Given the description of an element on the screen output the (x, y) to click on. 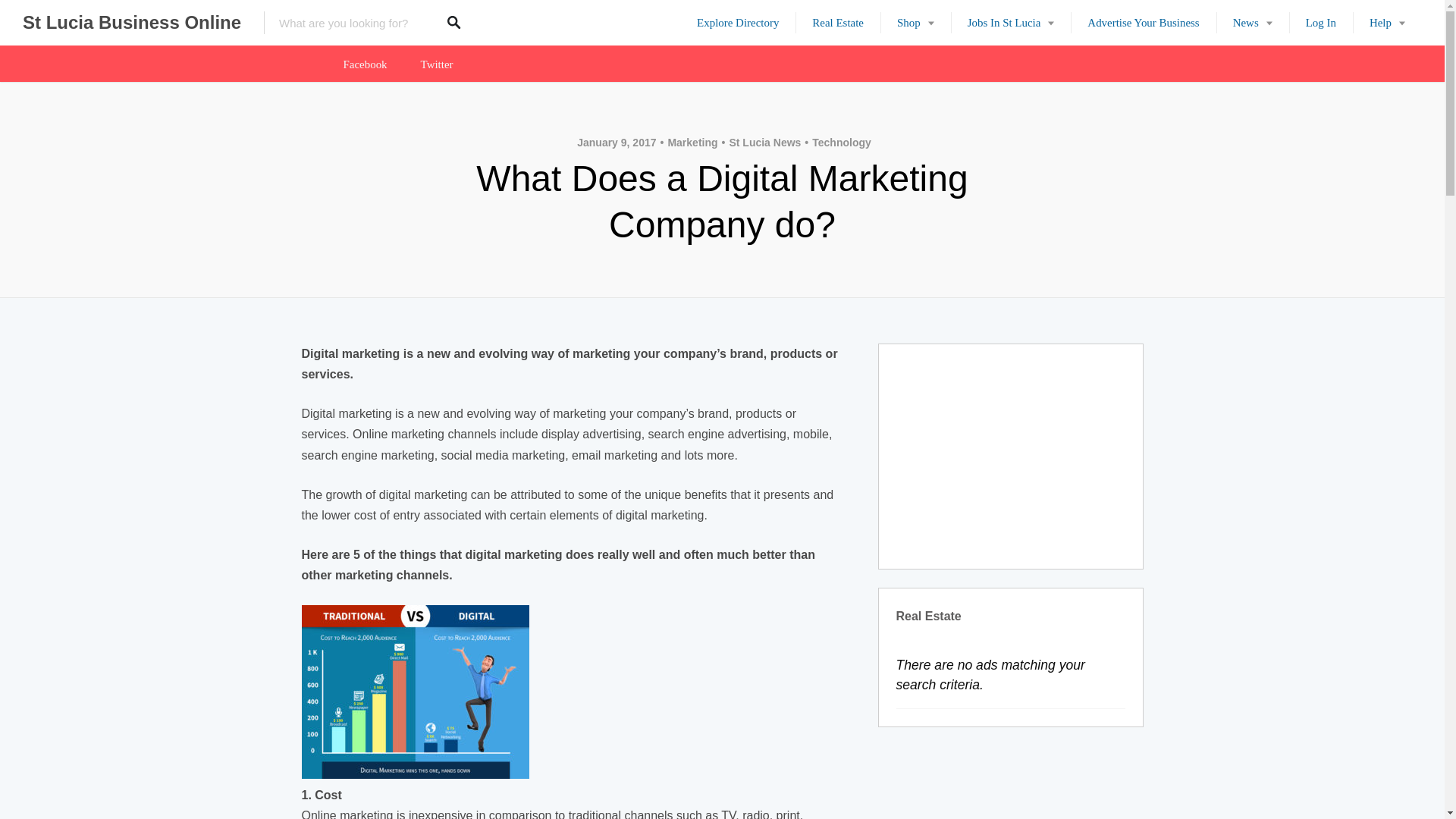
Log In (1320, 22)
Advertisement (1010, 456)
Real Estate (837, 22)
News (1251, 22)
Jobs In St Lucia (1010, 22)
Help (1387, 22)
Explore Directory (736, 22)
St Lucia Business Online (132, 22)
Shop (915, 22)
Advertise Your Business (1142, 22)
